Given the description of an element on the screen output the (x, y) to click on. 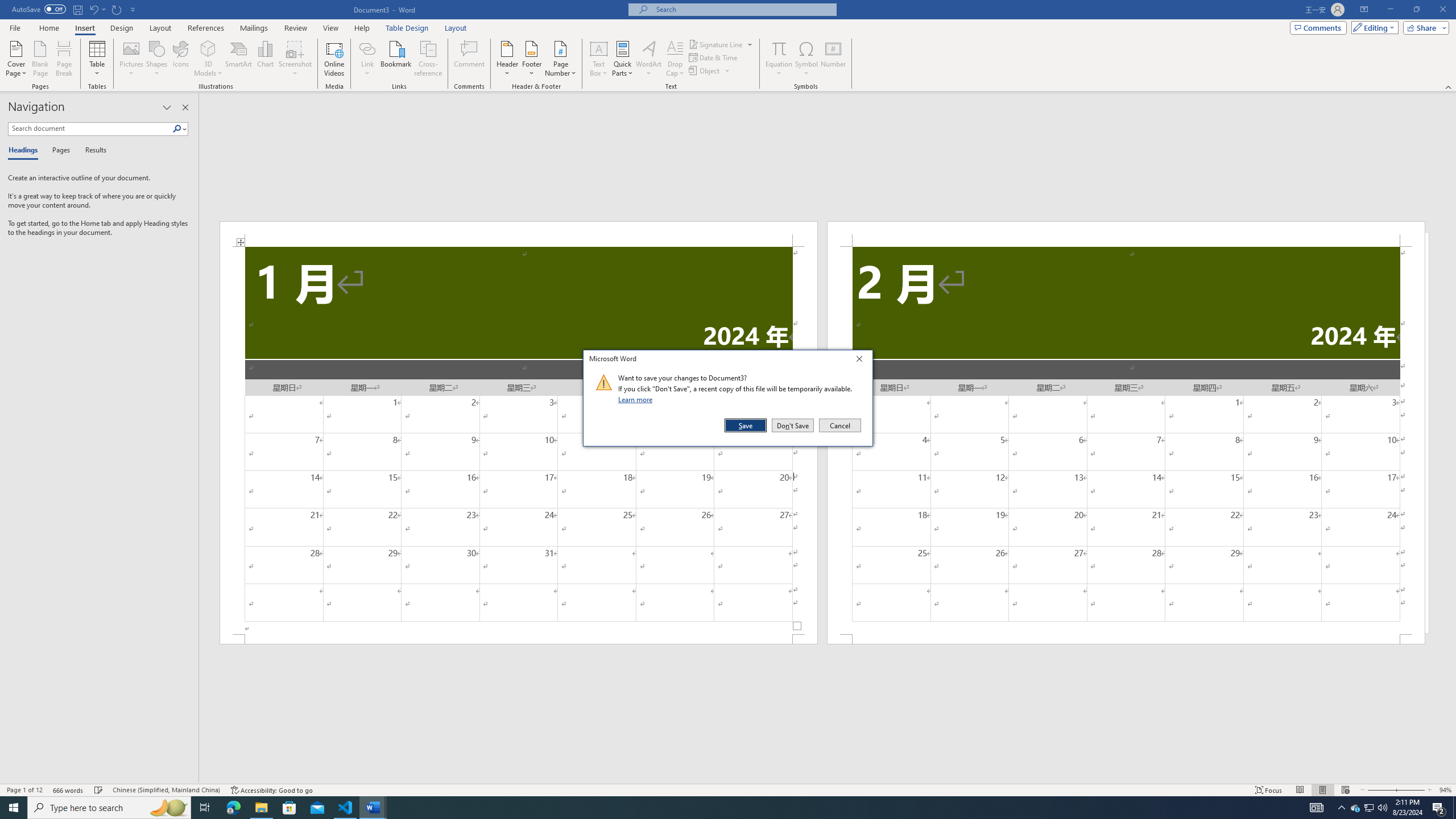
Link (367, 48)
Pages (59, 150)
Link (367, 58)
Table Design (407, 28)
Insert (83, 28)
System (6, 6)
Online Videos... (333, 58)
Quick Access Toolbar (74, 9)
Equation (778, 58)
Search document (89, 128)
Customize Quick Access Toolbar (133, 9)
Don't Save (792, 425)
Signature Line (716, 44)
Microsoft Edge (233, 807)
File Explorer - 1 running window (261, 807)
